Given the description of an element on the screen output the (x, y) to click on. 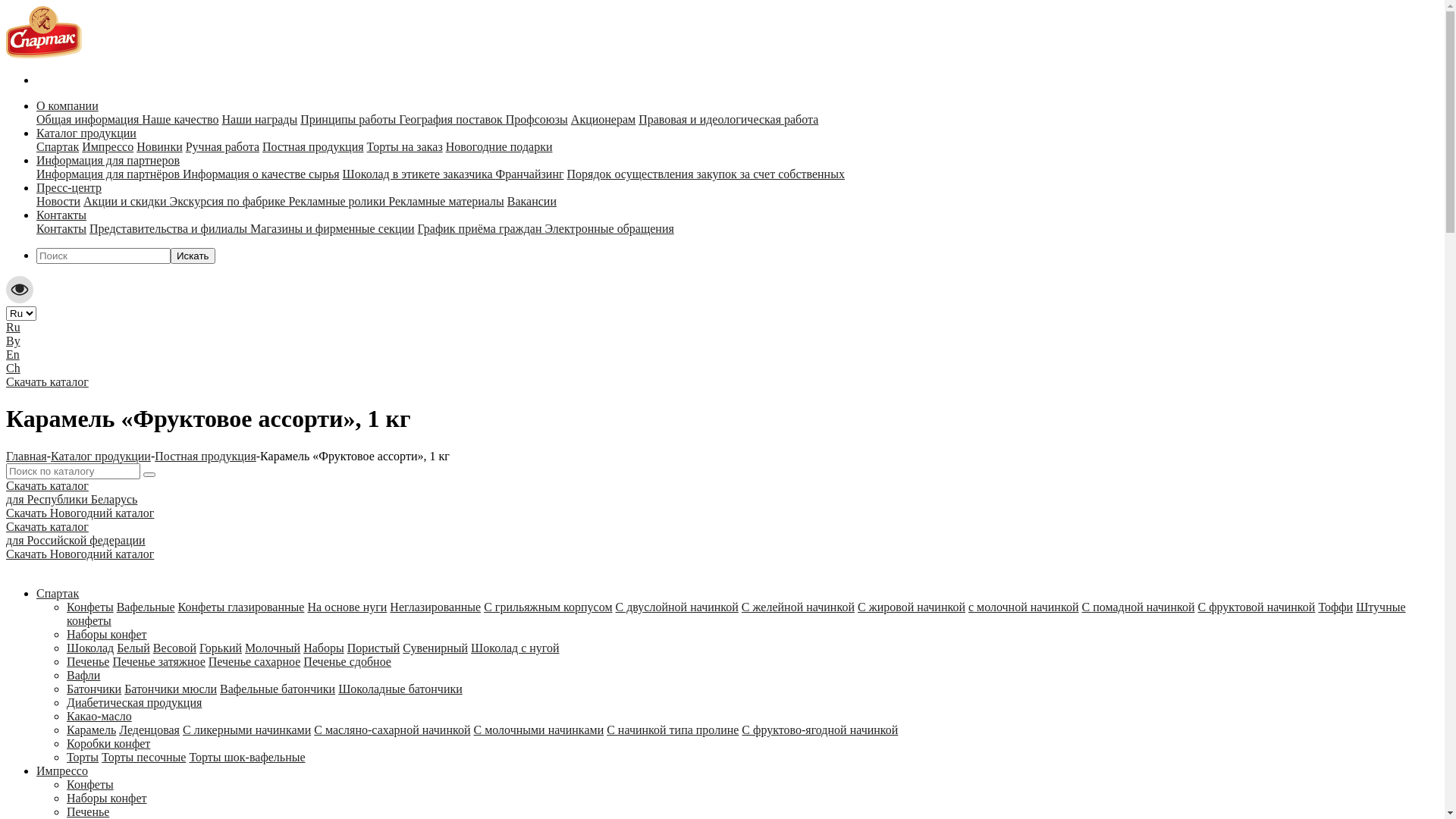
Ru Element type: text (13, 326)
Ch Element type: text (13, 367)
By Element type: text (13, 340)
En Element type: text (12, 354)
